Given the description of an element on the screen output the (x, y) to click on. 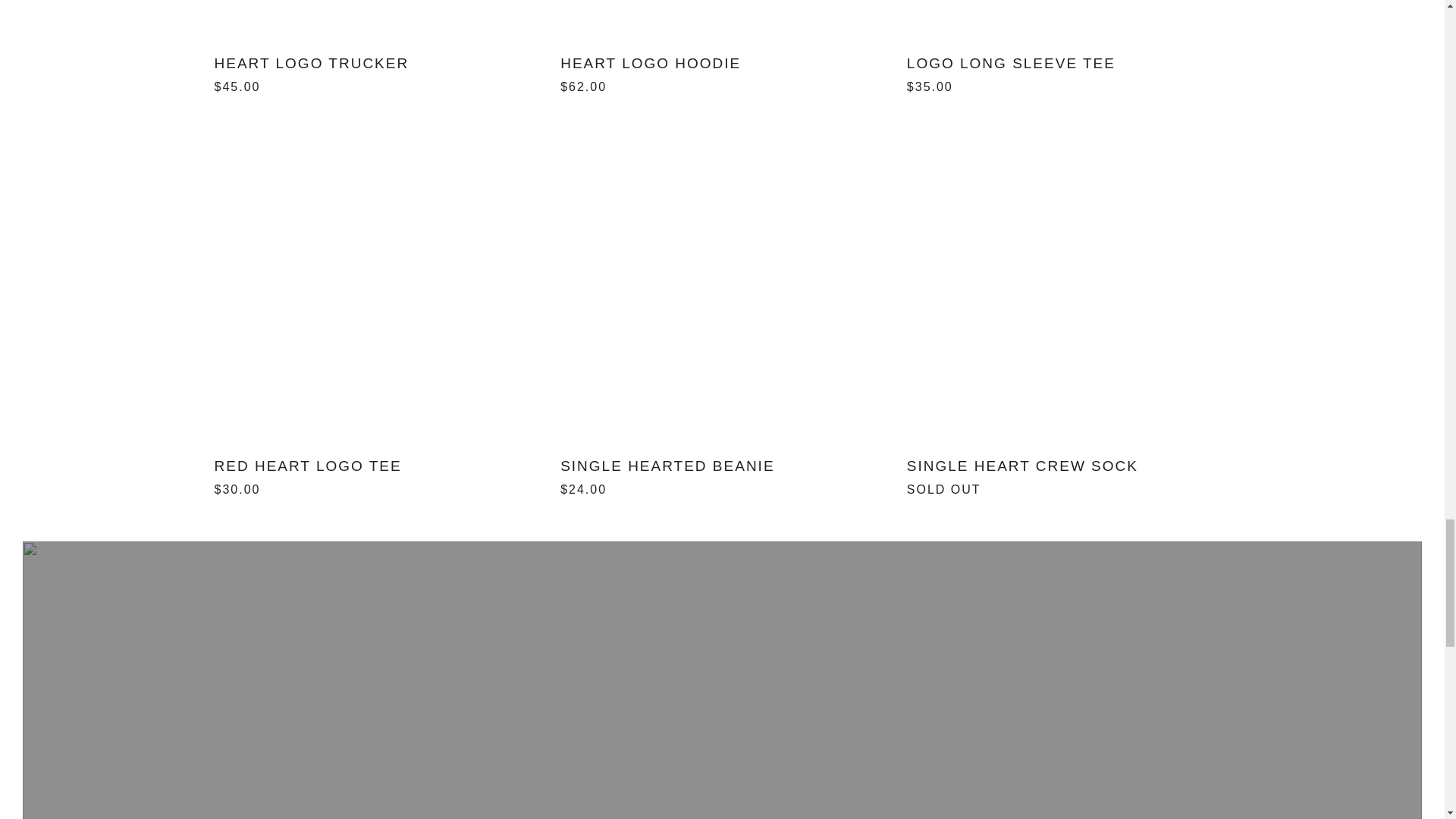
Heart Logo Trucker (376, 71)
Red Heart Logo Tee (376, 474)
Heart Logo Hoodie (721, 71)
Logo Long Sleeve Tee (1068, 71)
